Given the description of an element on the screen output the (x, y) to click on. 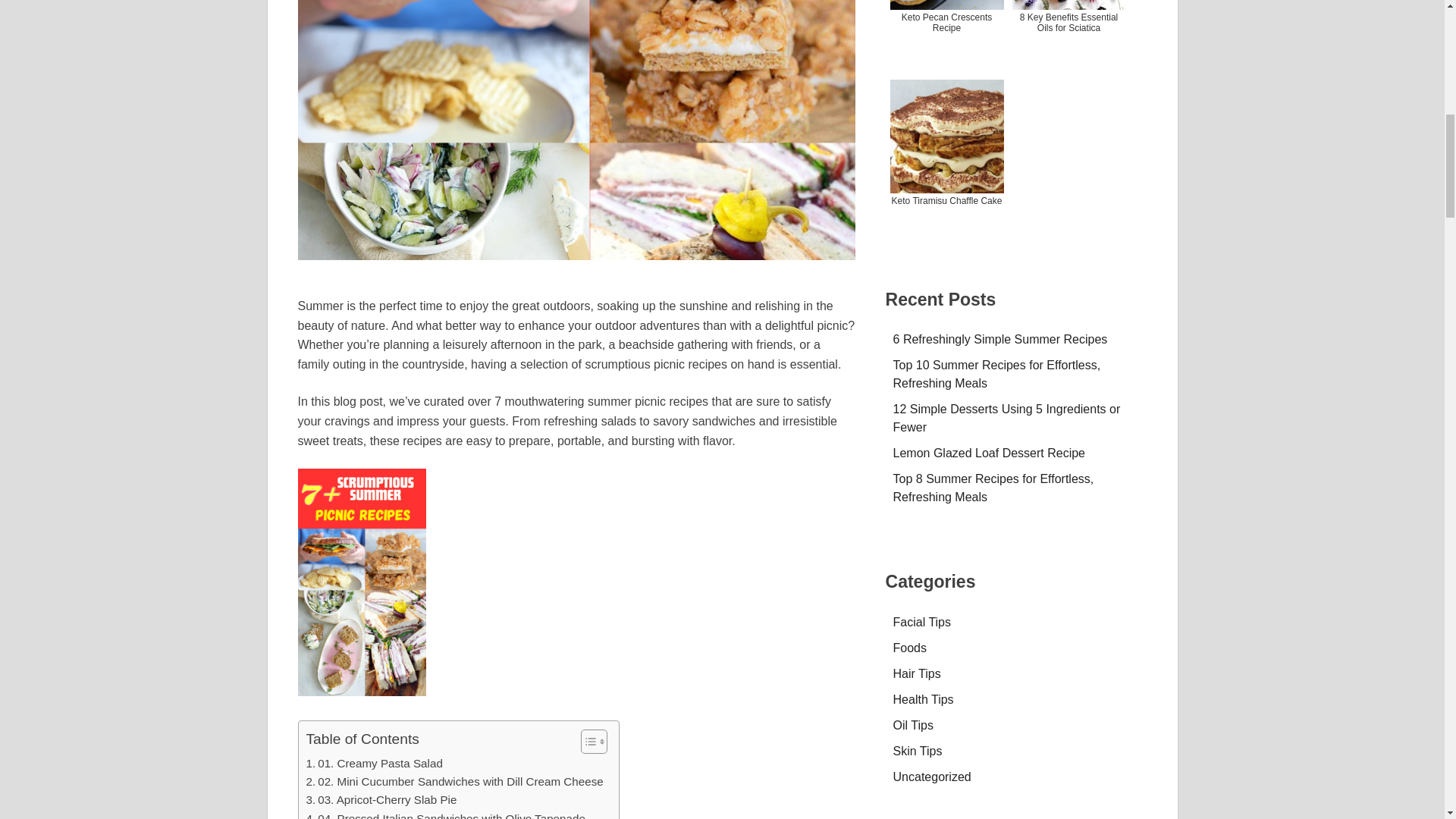
03. Apricot-Cherry Slab Pie (381, 800)
02. Mini Cucumber Sandwiches with Dill Cream Cheese (454, 782)
04. Pressed Italian Sandwiches with Olive Tapenade (445, 814)
01. Creamy Pasta Salad (373, 763)
03. Apricot-Cherry Slab Pie (381, 800)
01. Creamy Pasta Salad (373, 763)
02. Mini Cucumber Sandwiches with Dill Cream Cheese (454, 782)
04. Pressed Italian Sandwiches with Olive Tapenade (445, 814)
